Given the description of an element on the screen output the (x, y) to click on. 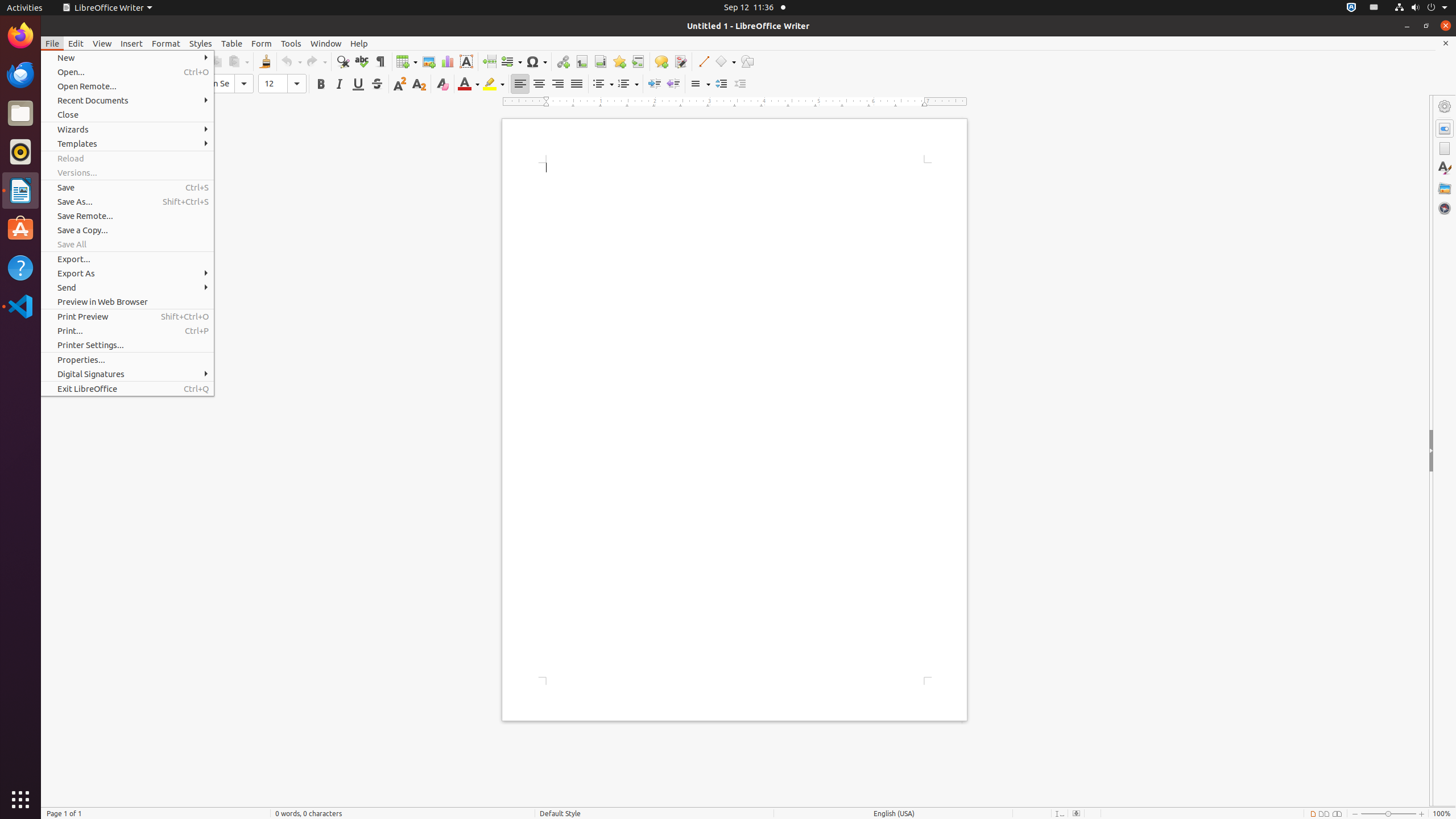
Save a Copy... Element type: menu-item (126, 229)
Find & Replace Element type: toggle-button (342, 61)
Justified Element type: toggle-button (576, 83)
Strikethrough Element type: toggle-button (376, 83)
Subscript Element type: toggle-button (418, 83)
